Given the description of an element on the screen output the (x, y) to click on. 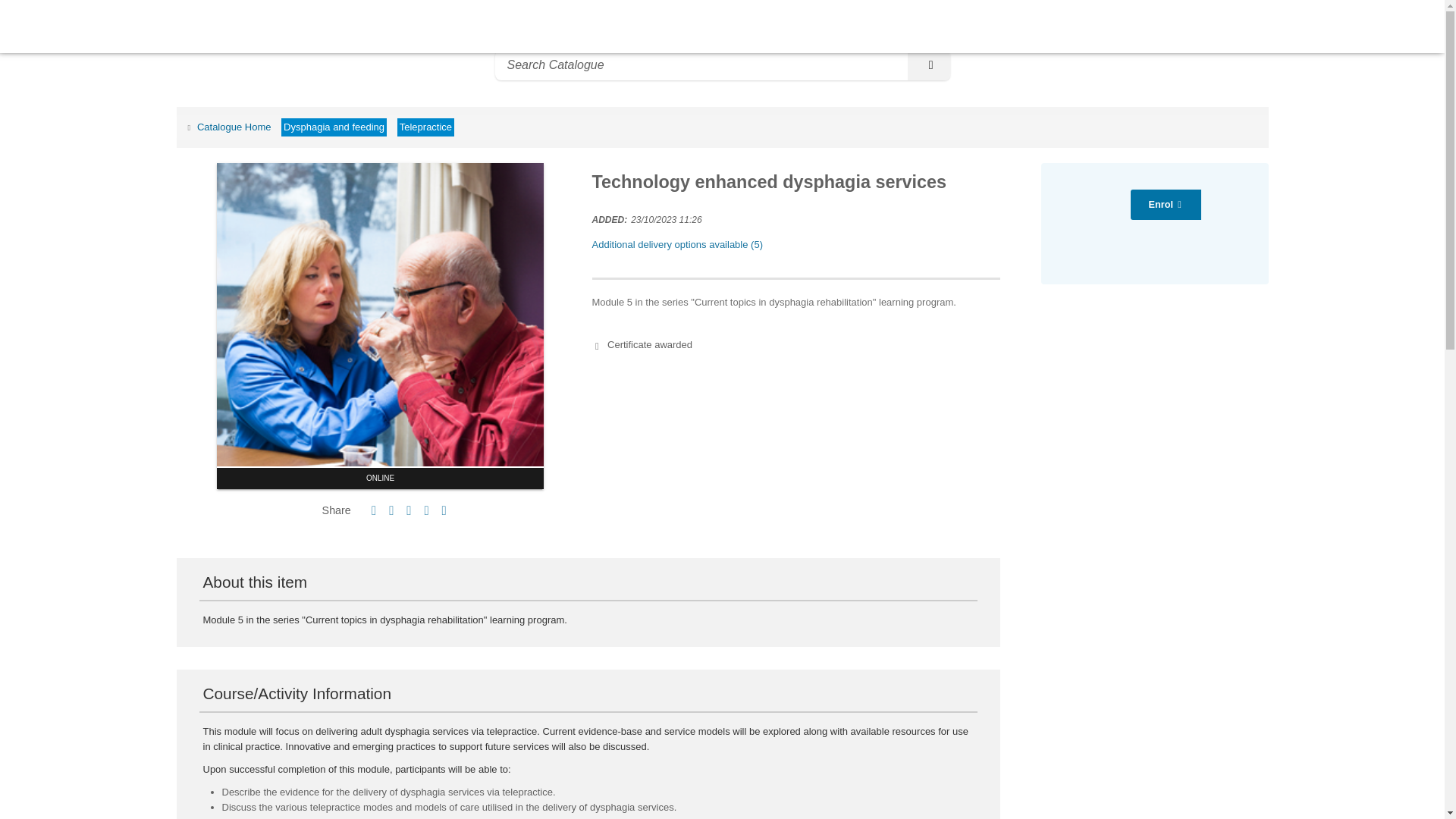
Home (41, 26)
Sign in (1418, 26)
Enrol (1166, 204)
Enrol (1166, 204)
Catalogue Home (226, 126)
Sign in (1418, 26)
